Given the description of an element on the screen output the (x, y) to click on. 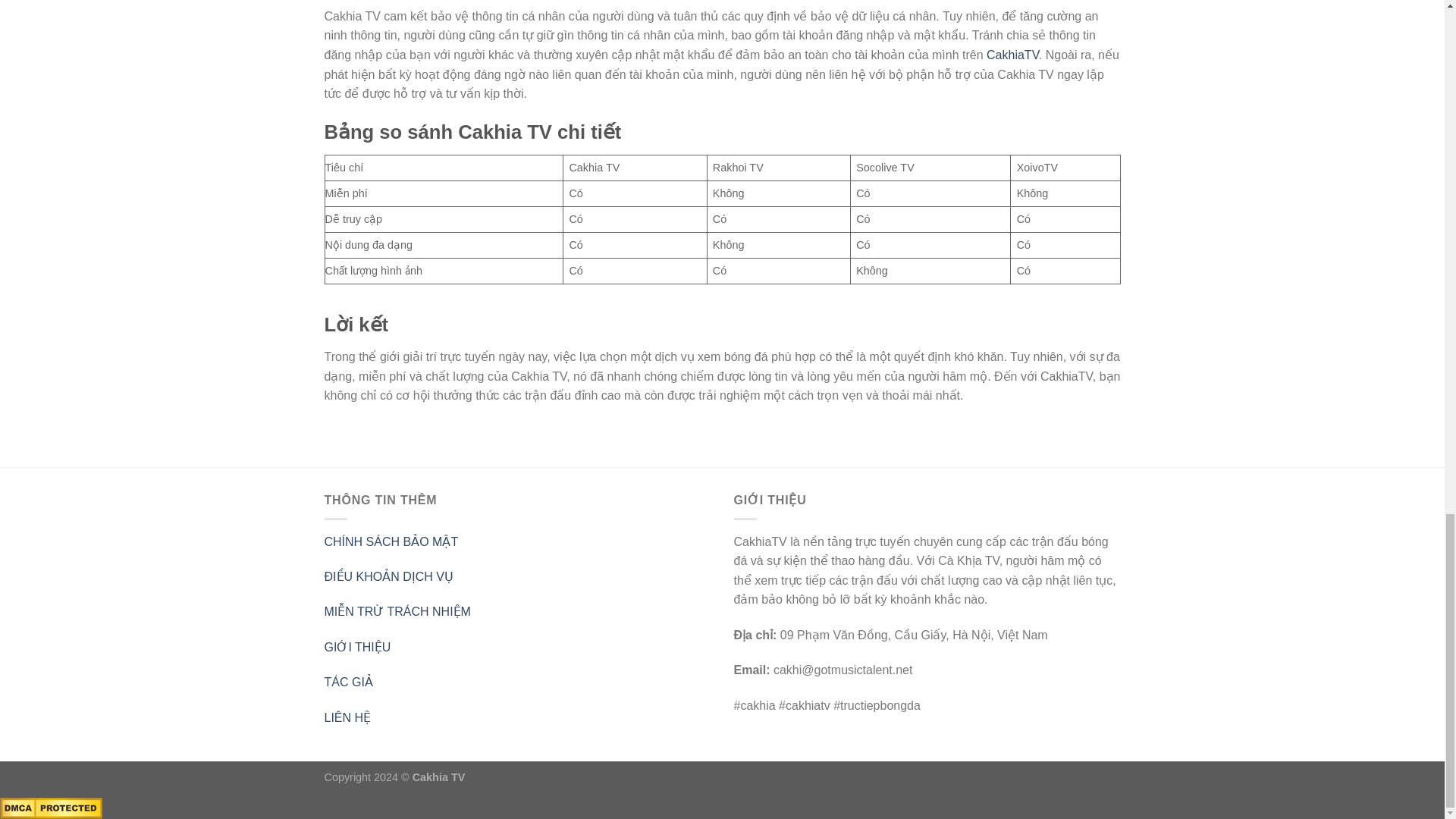
CakhiaTV (1013, 54)
DMCA.com Protection Status (50, 807)
